Given the description of an element on the screen output the (x, y) to click on. 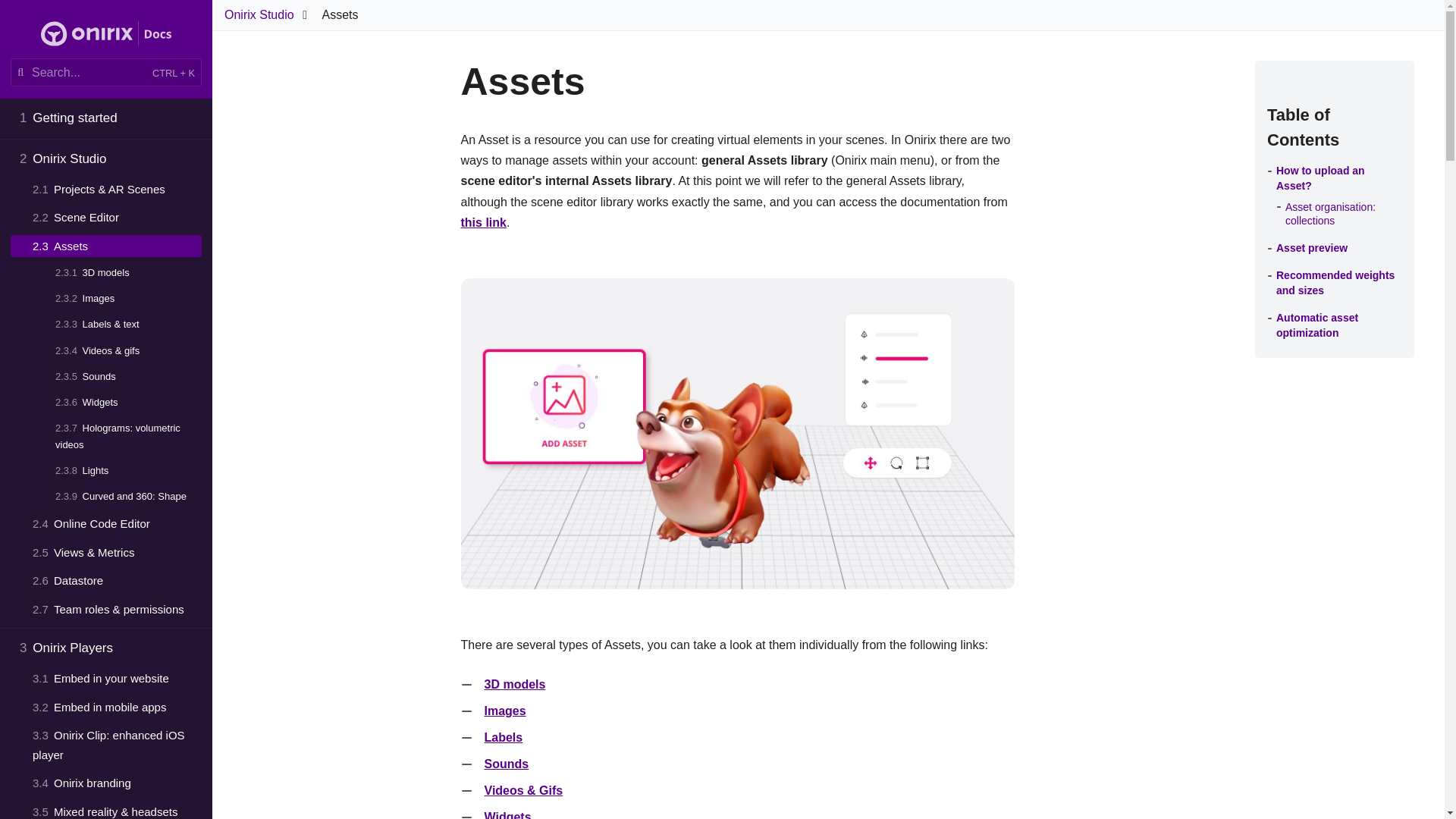
Scene Editor (106, 217)
Images (106, 298)
Holograms: volumetric videos (106, 436)
Getting started (106, 118)
Lights (106, 470)
Widgets (106, 402)
3D models (106, 272)
Onirix Studio (106, 159)
Curved and 360: Shape (106, 496)
